Given the description of an element on the screen output the (x, y) to click on. 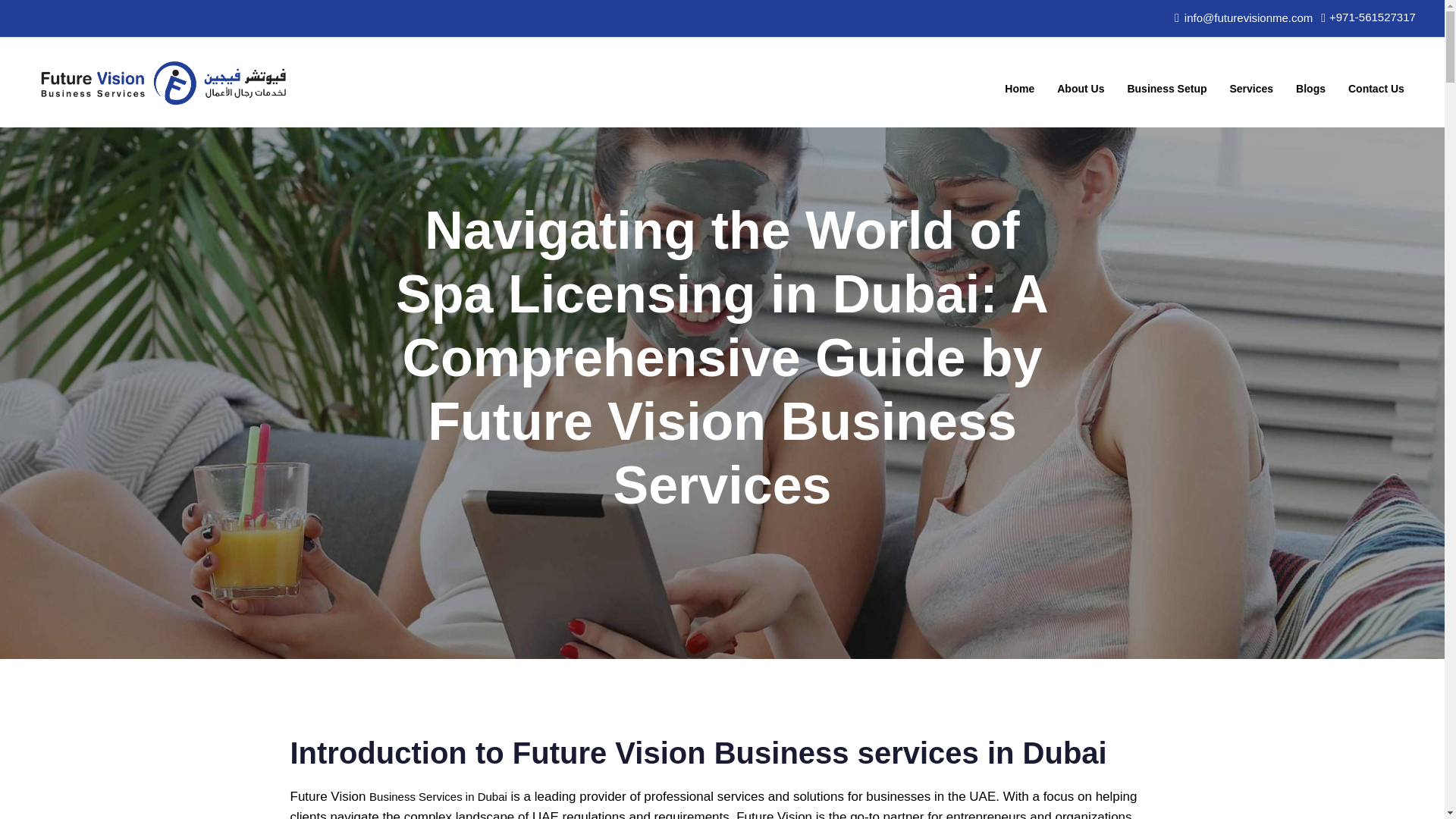
Business Setup (1166, 81)
Business Services in Dubai (437, 796)
